Given the description of an element on the screen output the (x, y) to click on. 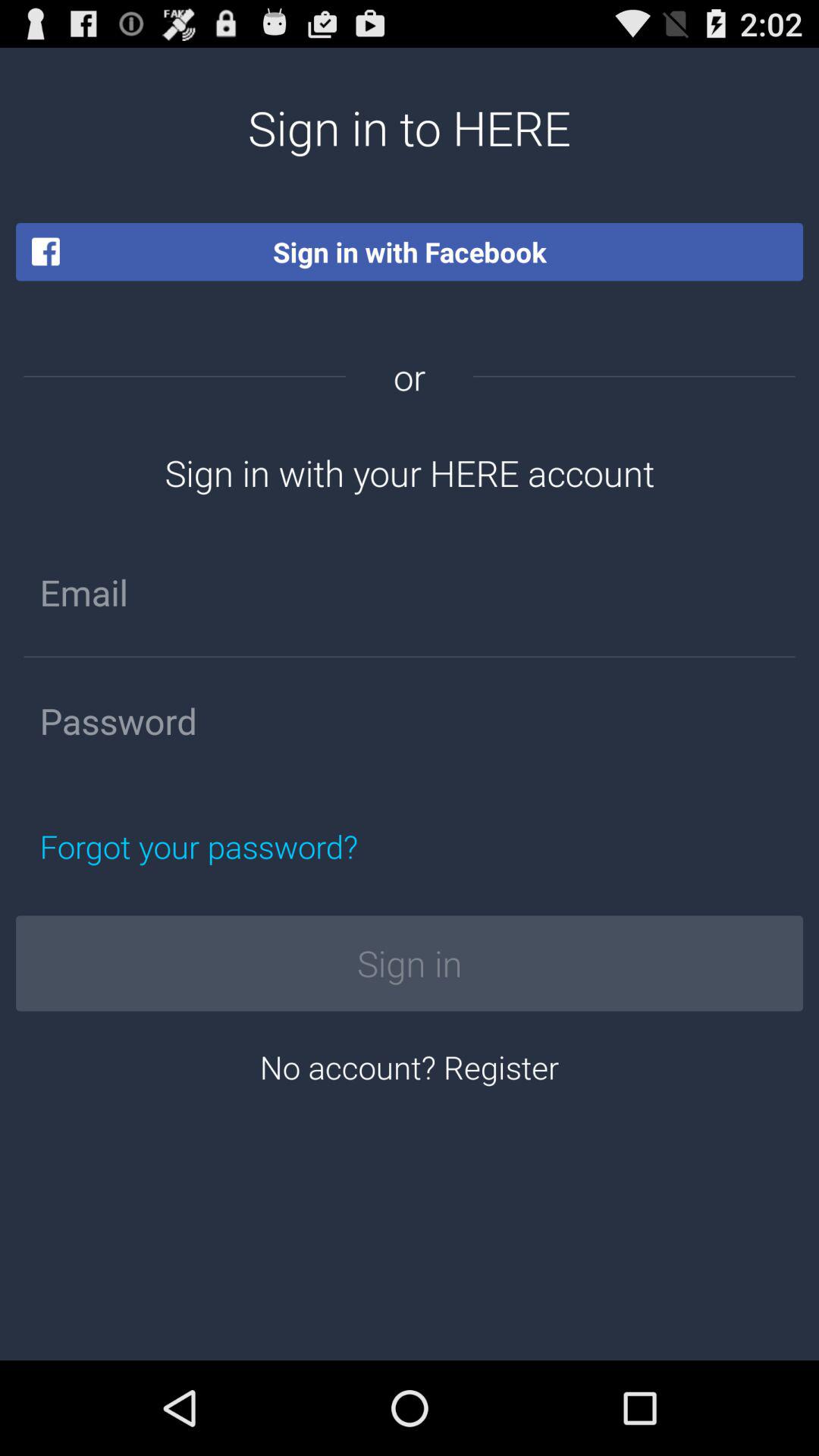
enter your email (409, 592)
